Given the description of an element on the screen output the (x, y) to click on. 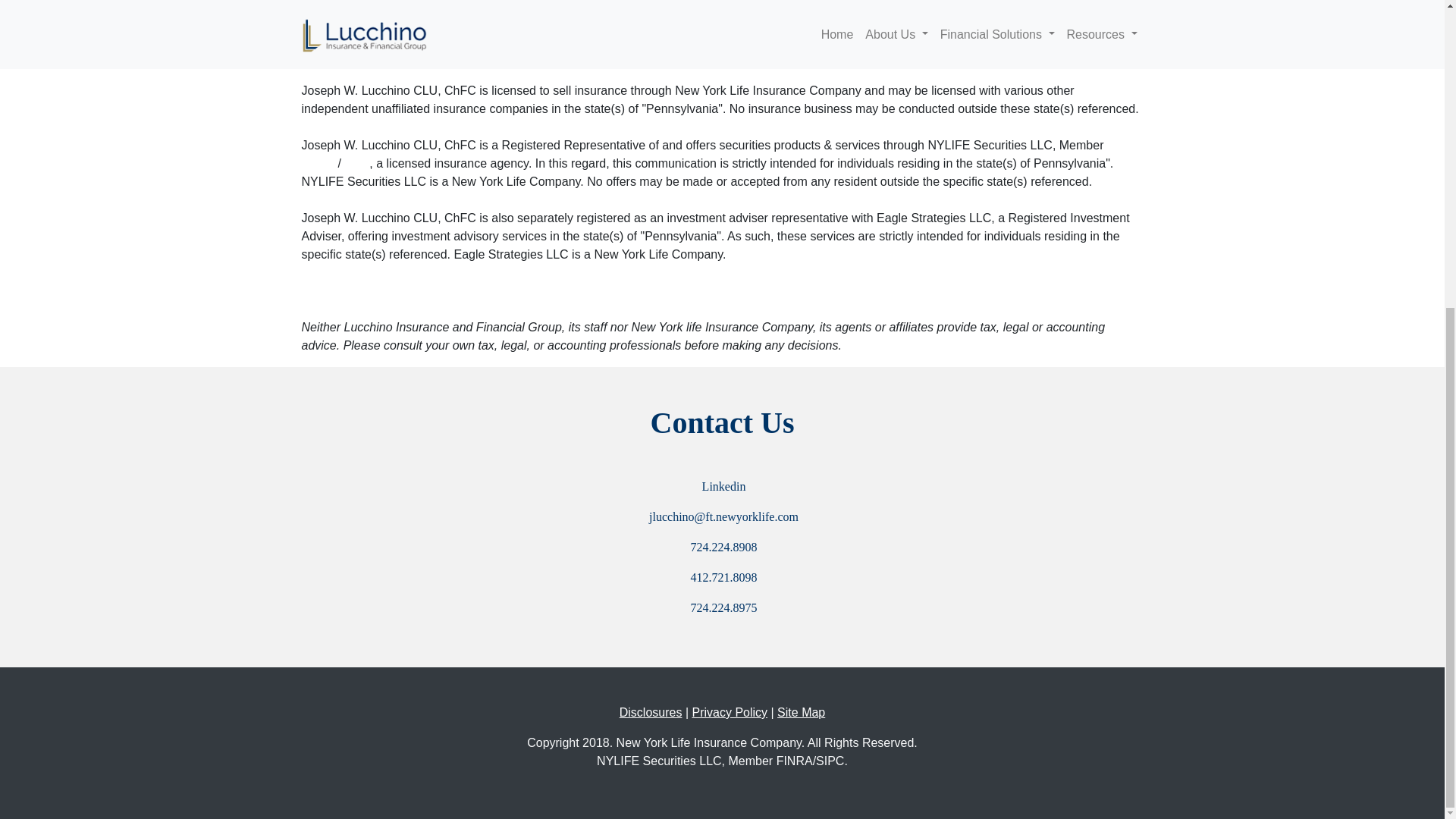
Fax (721, 607)
Linkedin (721, 486)
Office Phone (721, 547)
SIPC (354, 163)
FINRA (319, 163)
Site Map (801, 712)
Privacy Policy (729, 712)
Mobile Phone (721, 577)
724.224.8975 (721, 607)
Disclosures (651, 712)
